Given the description of an element on the screen output the (x, y) to click on. 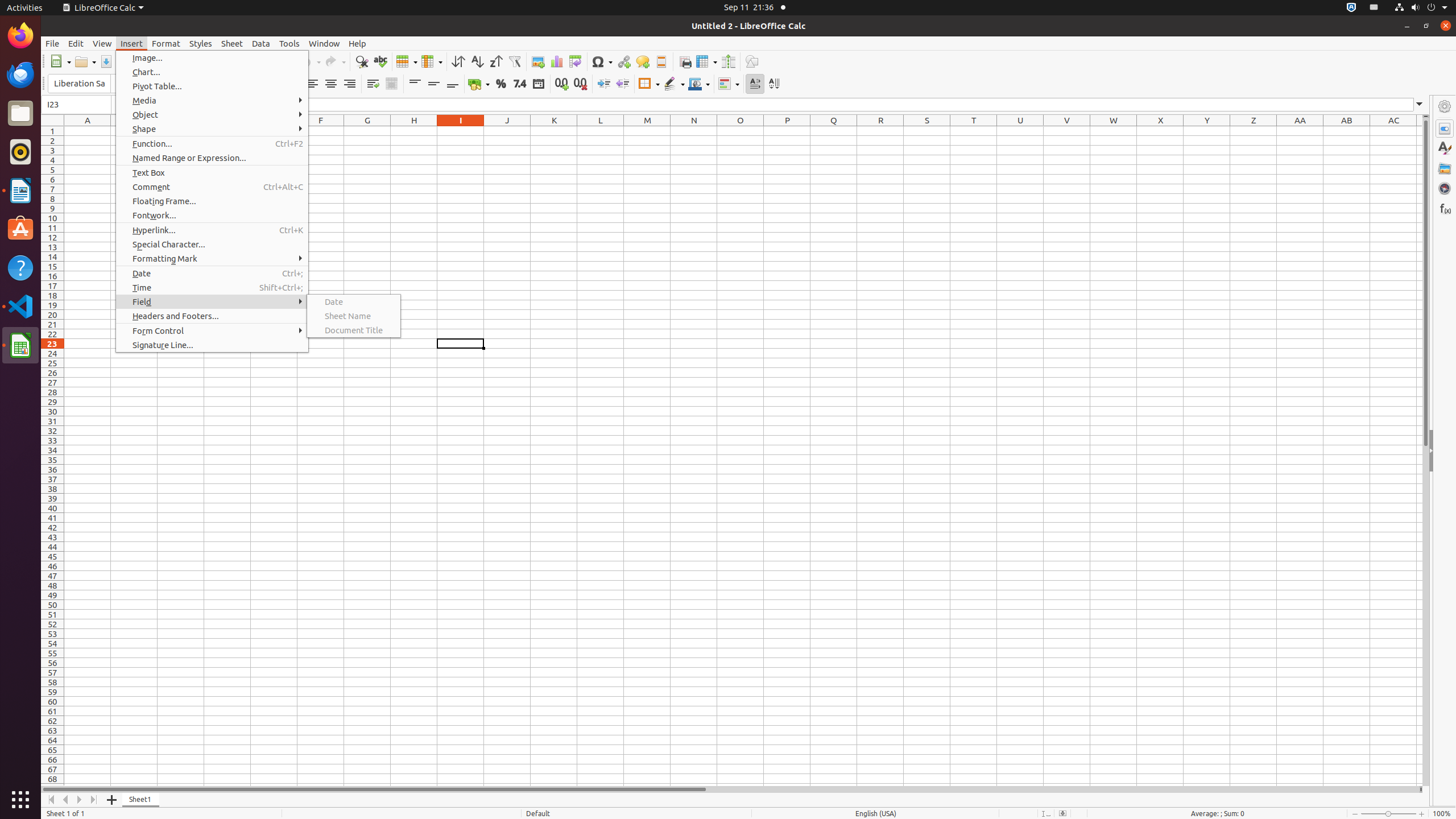
Sort Descending Element type: push-button (495, 61)
T1 Element type: table-cell (973, 130)
Border Color Element type: push-button (698, 83)
Format Element type: menu (165, 43)
Pivot Table... Element type: menu-item (212, 86)
